Given the description of an element on the screen output the (x, y) to click on. 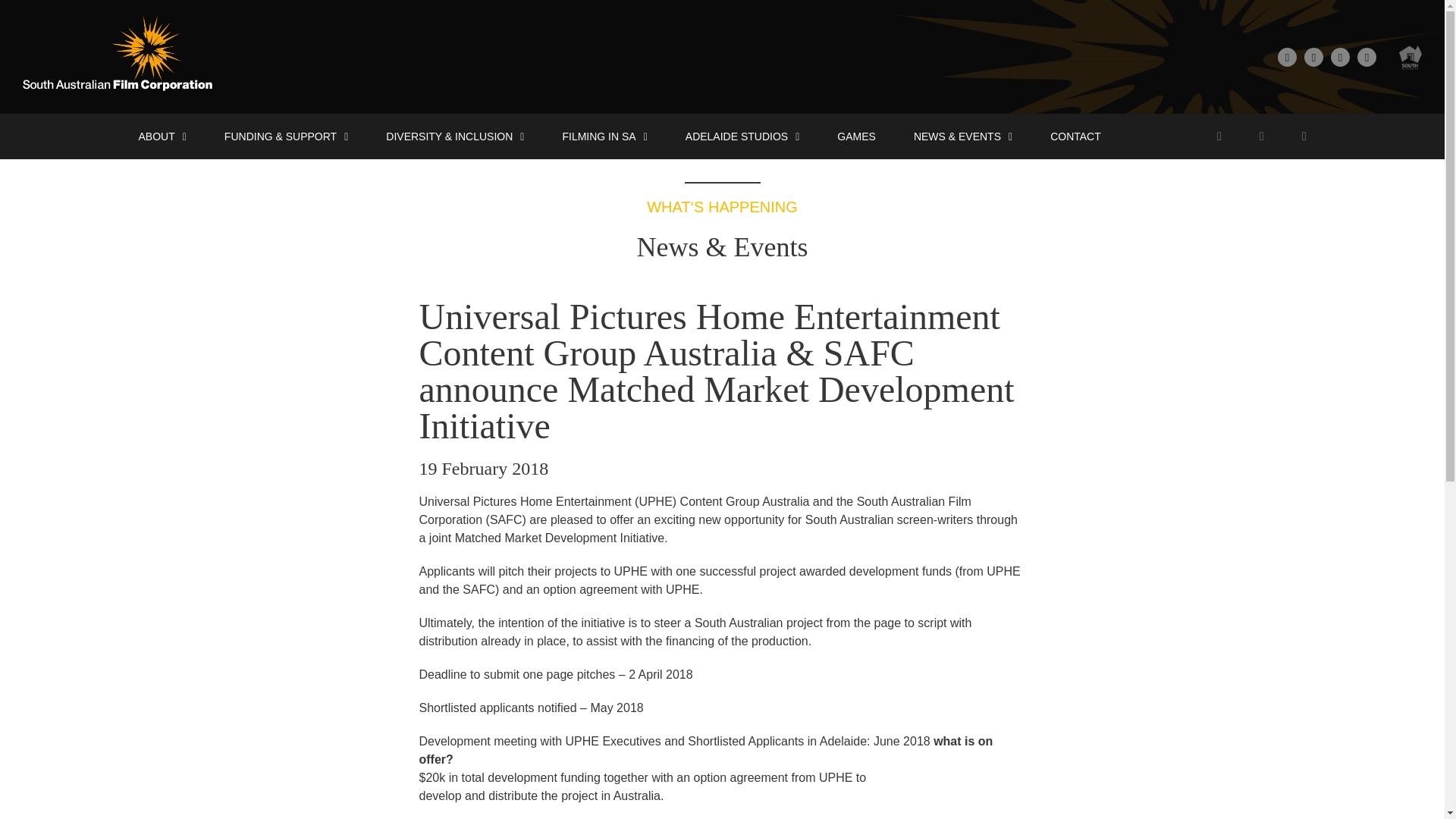
Twitter (1313, 56)
Instagram (1365, 56)
FILMING IN SA (604, 136)
Youtube (1339, 56)
South Australia (1410, 56)
ABOUT (162, 136)
Facebook (1287, 56)
ADELAIDE STUDIOS (742, 136)
